Given the description of an element on the screen output the (x, y) to click on. 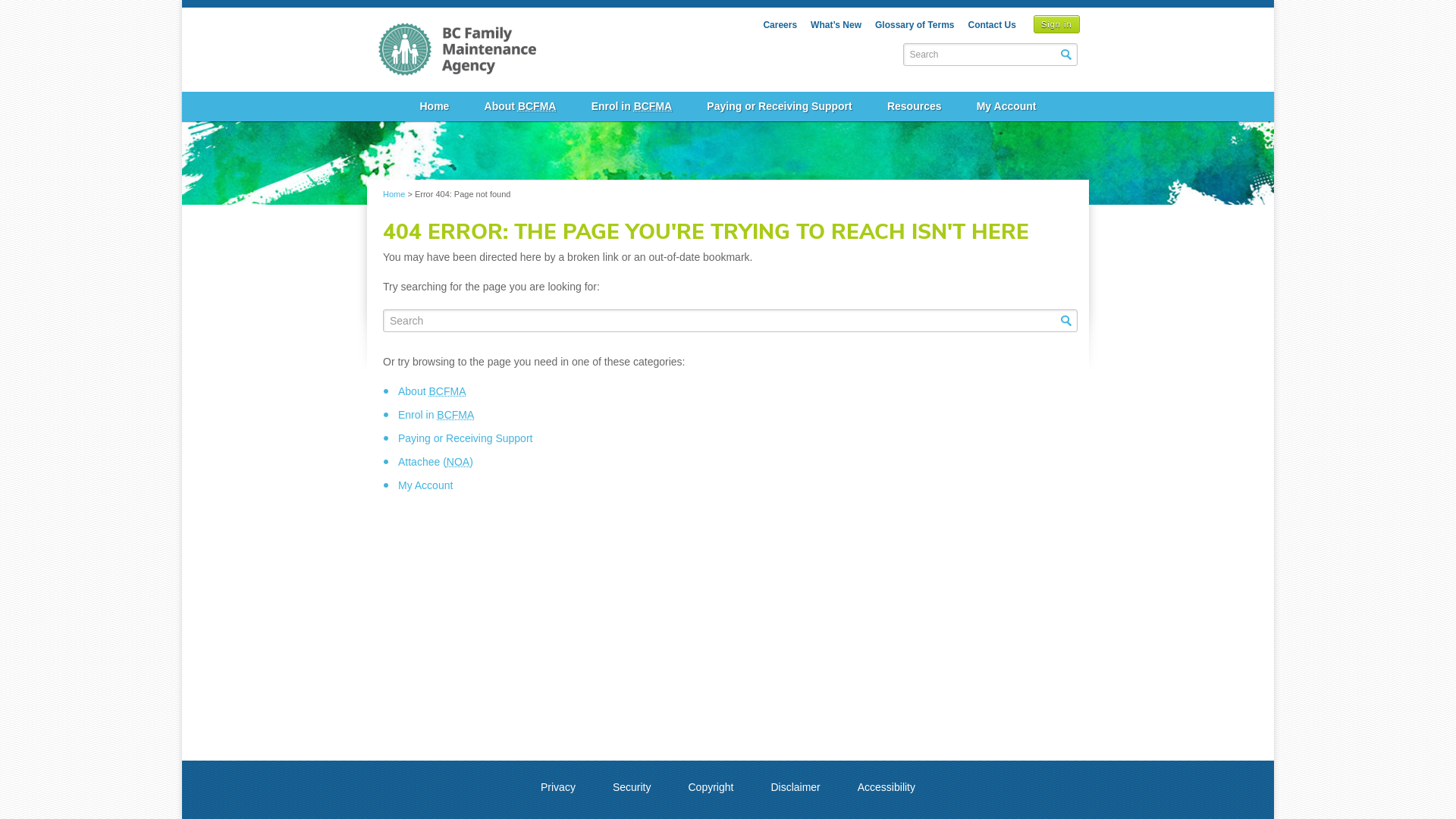
Home Element type: text (433, 106)
Search Element type: text (1065, 320)
Enrol in BCFMA Element type: text (435, 414)
Security Element type: text (631, 787)
Resources Element type: text (914, 106)
About BCFMA Element type: text (431, 391)
Glossary of Terms Element type: text (914, 24)
Search Element type: text (1065, 54)
Paying or Receiving Support Element type: text (465, 438)
My Account Element type: text (425, 485)
Careers Element type: text (779, 24)
Attachee (NOA) Element type: text (435, 461)
Paying or Receiving Support Element type: text (779, 106)
Home Page Element type: hover (457, 40)
Enrol in BCFMA Element type: text (632, 106)
Disclaimer Element type: text (794, 787)
About BCFMA Element type: text (519, 106)
Copyright Element type: text (710, 787)
Privacy Element type: text (557, 787)
Home Element type: text (393, 193)
Contact Us Element type: text (991, 24)
Accessibility Element type: text (886, 787)
My Account Element type: text (1006, 106)
Sign in Element type: text (1056, 23)
